Given the description of an element on the screen output the (x, y) to click on. 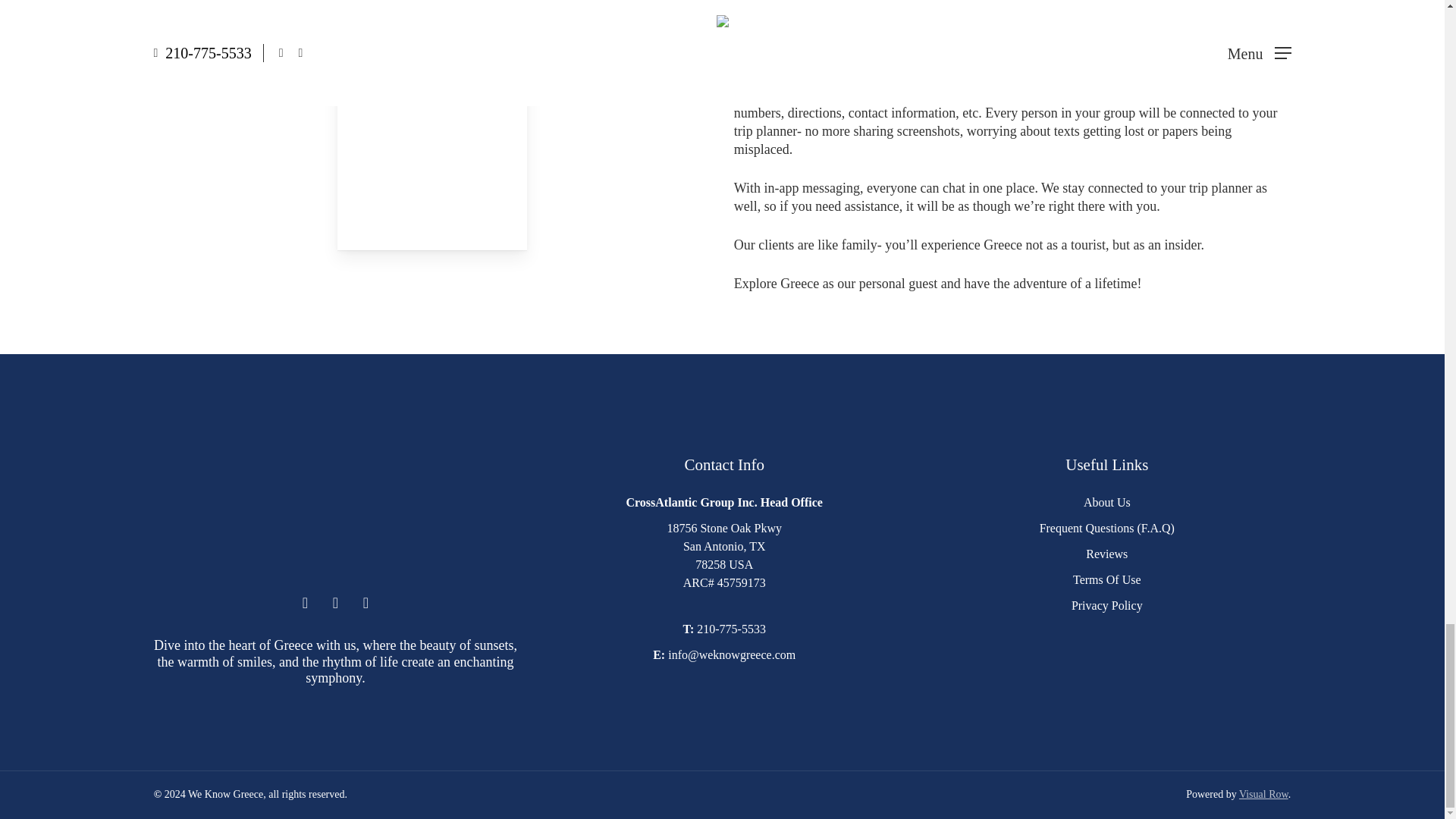
Privacy Policy (1106, 604)
Visual Row (1263, 794)
About Us (1107, 502)
Terms Of Use (1107, 579)
210-775-5533 (731, 628)
Reviews (1106, 553)
